Given the description of an element on the screen output the (x, y) to click on. 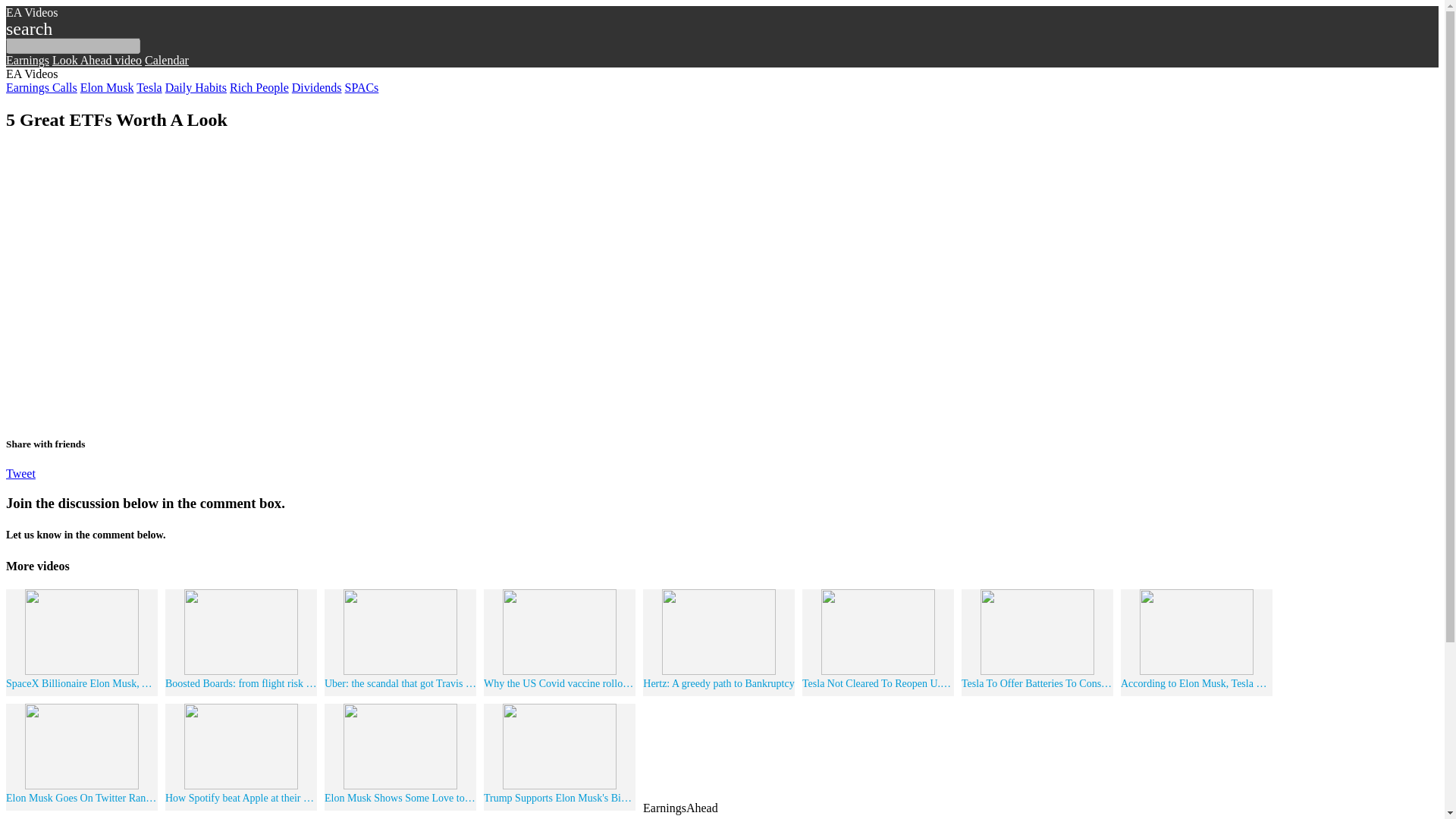
SpaceX Billionaire Elon Musk, Actress Wife Split Again (81, 685)
Elon Musk Shows Some Love to Rocket-building Game 'Kerbal' (400, 799)
Hertz: A greedy path to Bankruptcy (718, 685)
Hertz: A greedy path to Bankruptcy (718, 685)
Tesla Not Cleared To Reopen U.S. Factory (877, 685)
How Spotify beat Apple at their own game (241, 799)
